Given the description of an element on the screen output the (x, y) to click on. 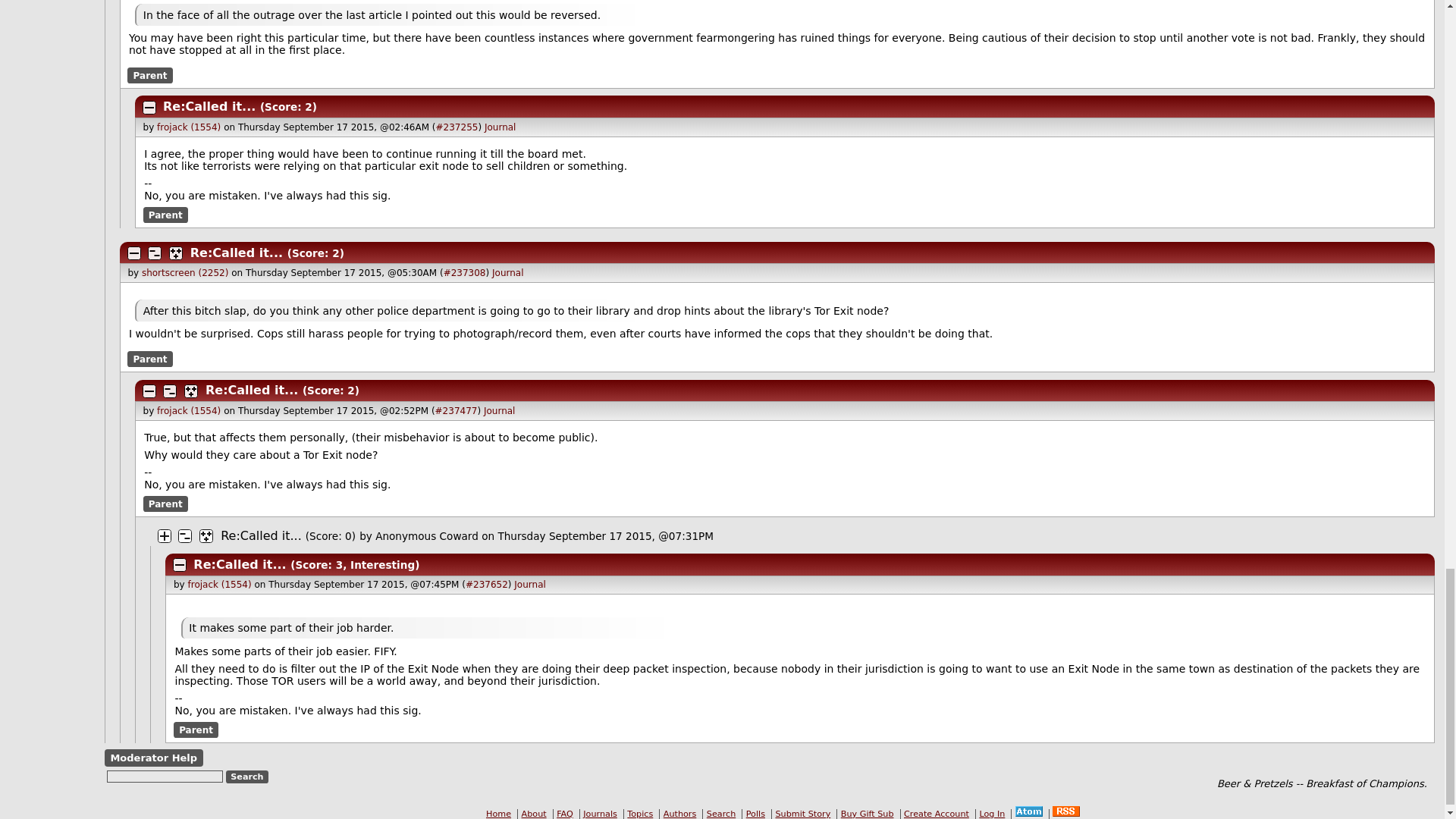
Search (247, 776)
